Given the description of an element on the screen output the (x, y) to click on. 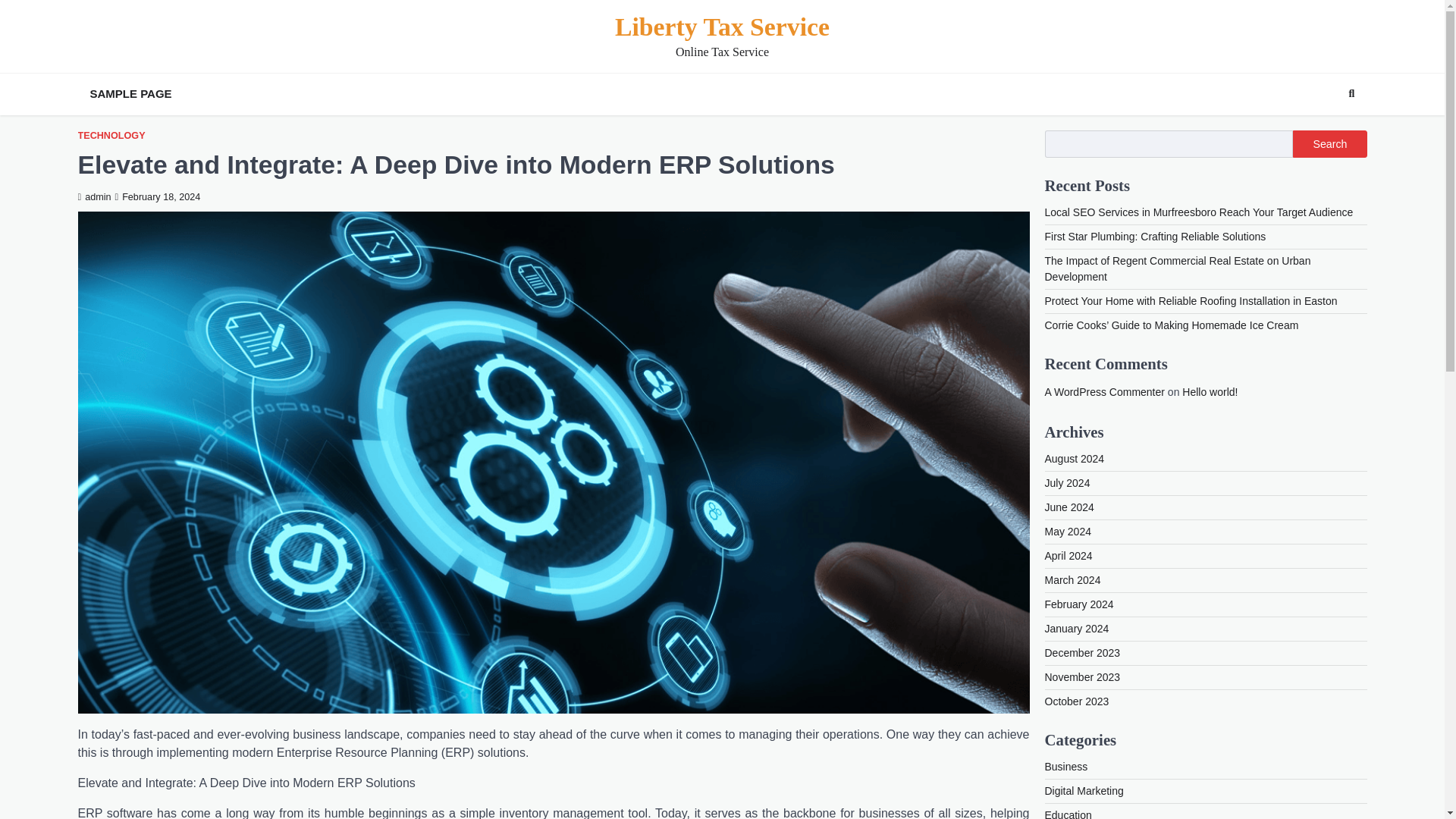
A WordPress Commenter (1104, 391)
November 2023 (1083, 676)
June 2024 (1069, 507)
April 2024 (1069, 555)
Hello world! (1209, 391)
TECHNOLOGY (110, 135)
Liberty Tax Service (721, 26)
SAMPLE PAGE (129, 94)
May 2024 (1067, 531)
